Given the description of an element on the screen output the (x, y) to click on. 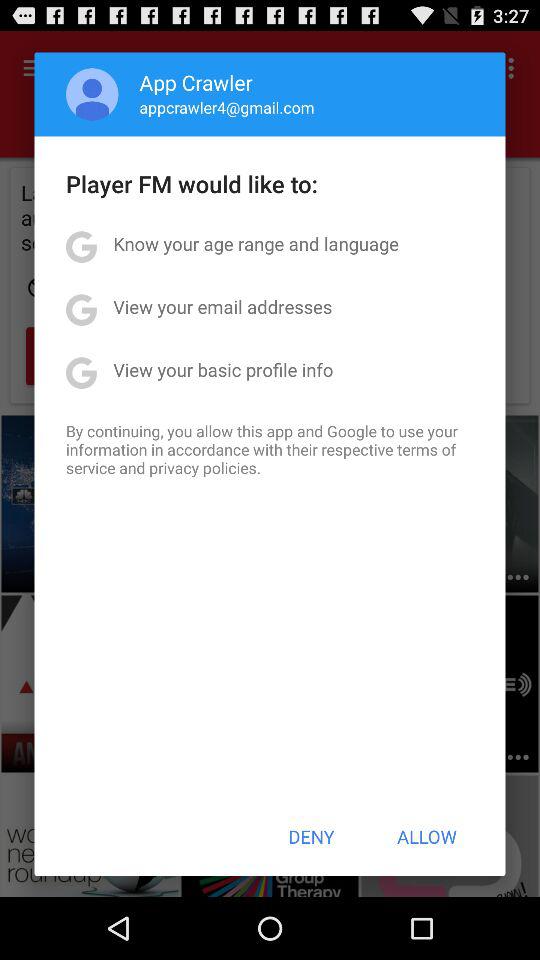
turn on the app below by continuing you item (311, 836)
